Given the description of an element on the screen output the (x, y) to click on. 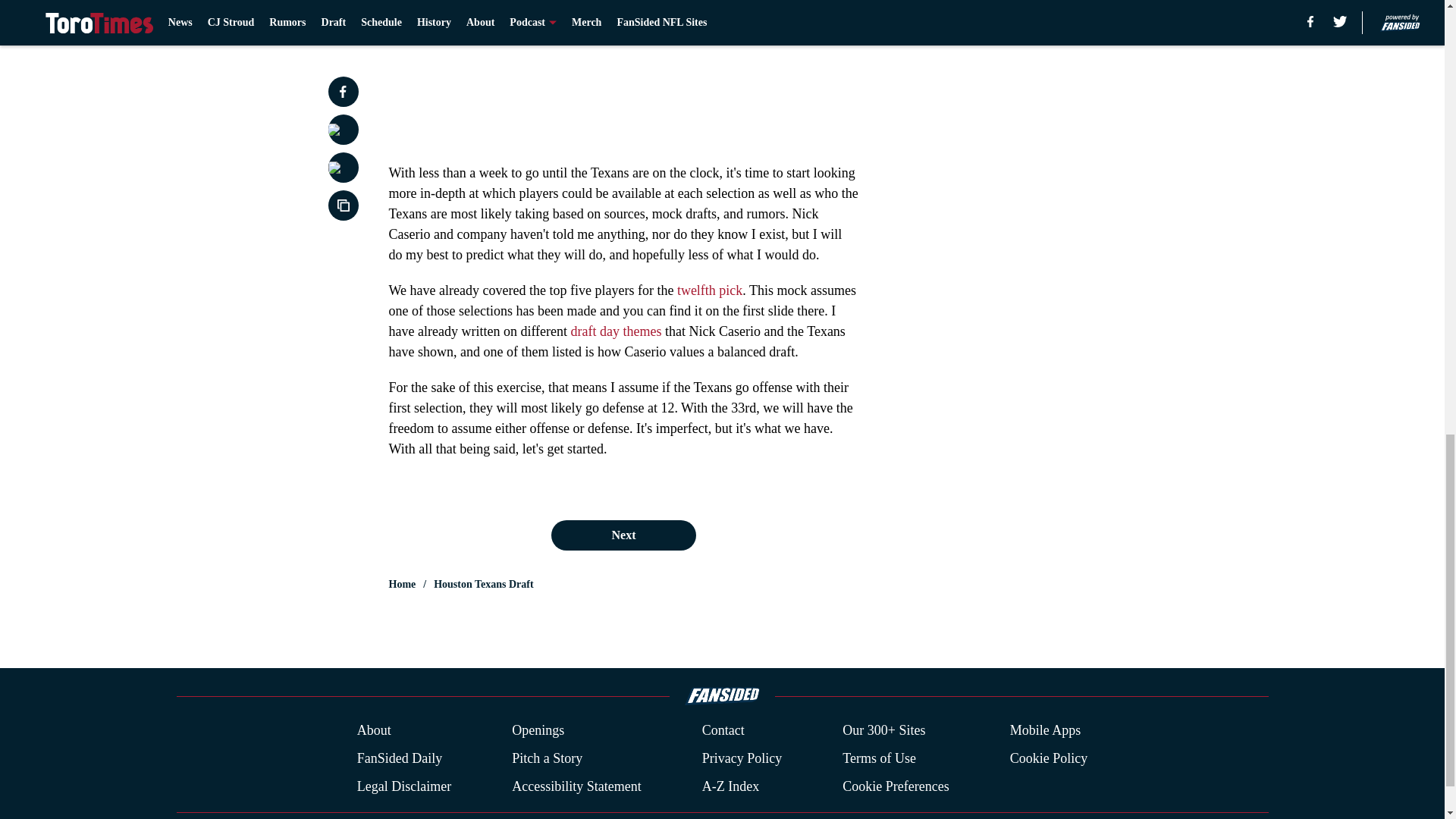
Pitch a Story (547, 758)
Privacy Policy (742, 758)
twelfth pick (709, 290)
draft day themes (616, 331)
Openings (538, 730)
Contact (722, 730)
Houston Texans Draft (482, 584)
Home (401, 584)
Mobile Apps (1045, 730)
About (373, 730)
